Given the description of an element on the screen output the (x, y) to click on. 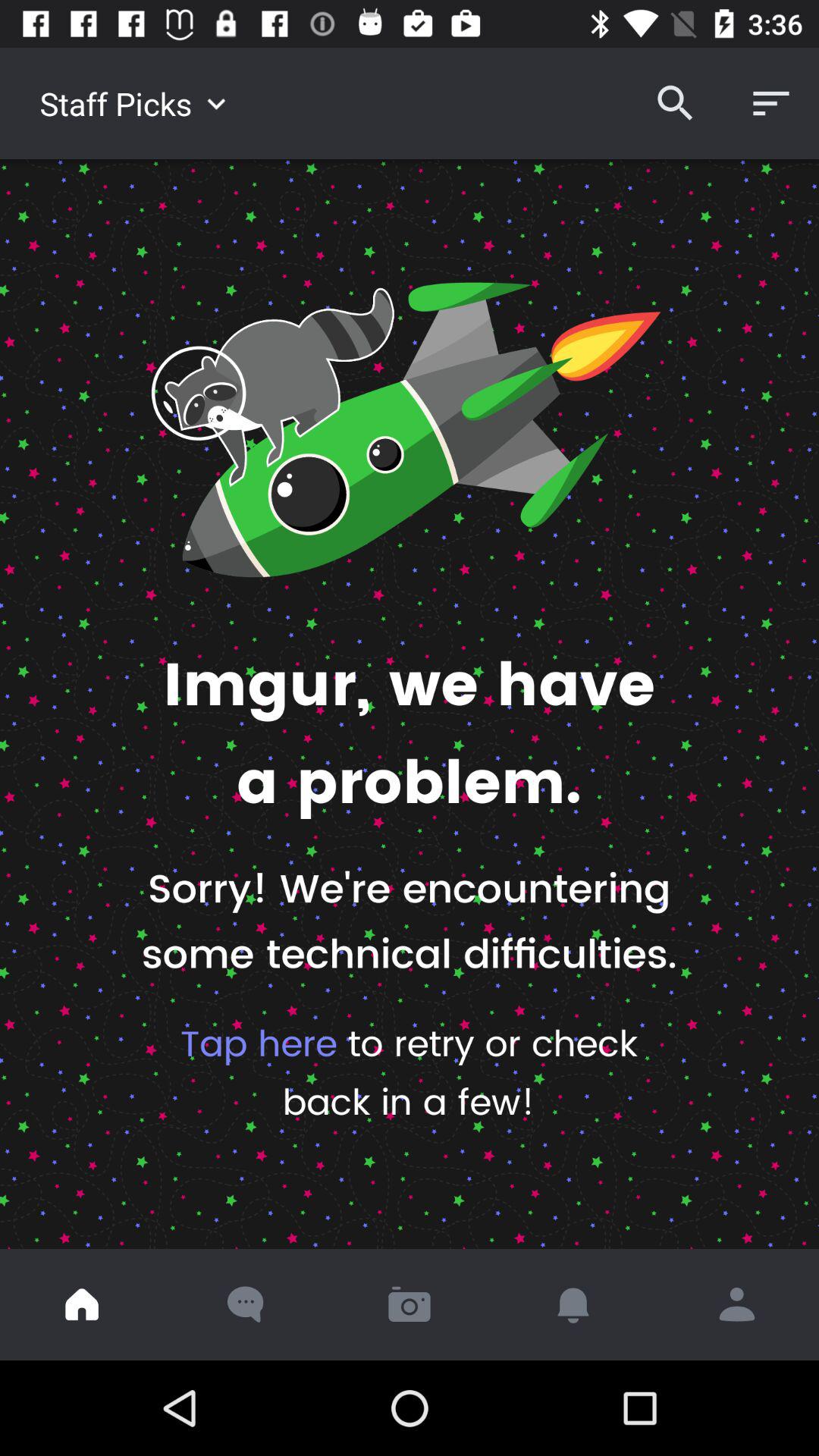
go to home (81, 1304)
